Given the description of an element on the screen output the (x, y) to click on. 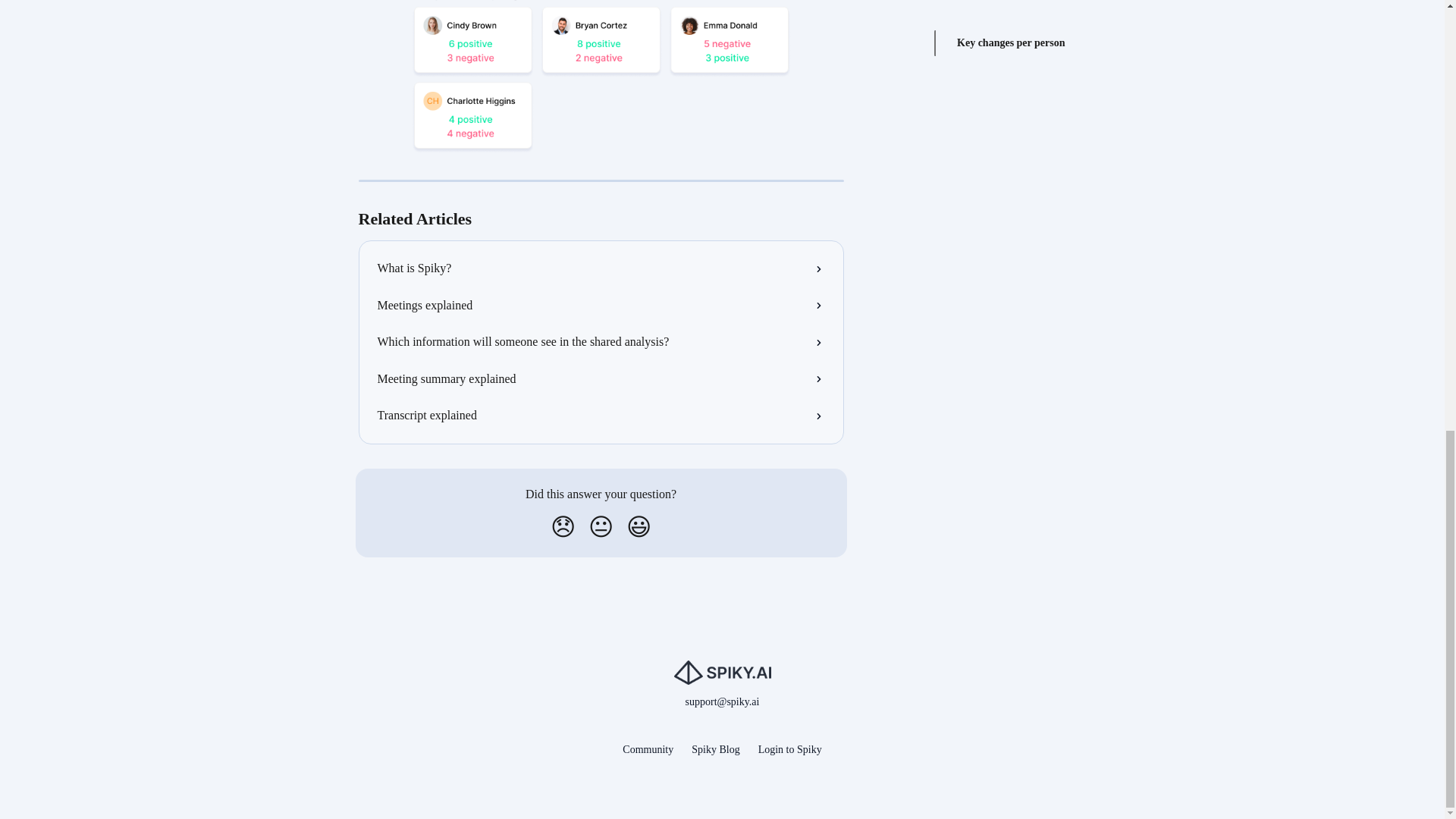
Community (647, 749)
Transcript explained (601, 415)
Meeting summary explained (601, 379)
Meetings explained (601, 305)
Which information will someone see in the shared analysis? (601, 341)
Neutral (600, 526)
What is Spiky? (601, 268)
Login to Spiky (790, 749)
Smiley (638, 526)
Spiky Blog (715, 749)
Disappointed (562, 526)
